Given the description of an element on the screen output the (x, y) to click on. 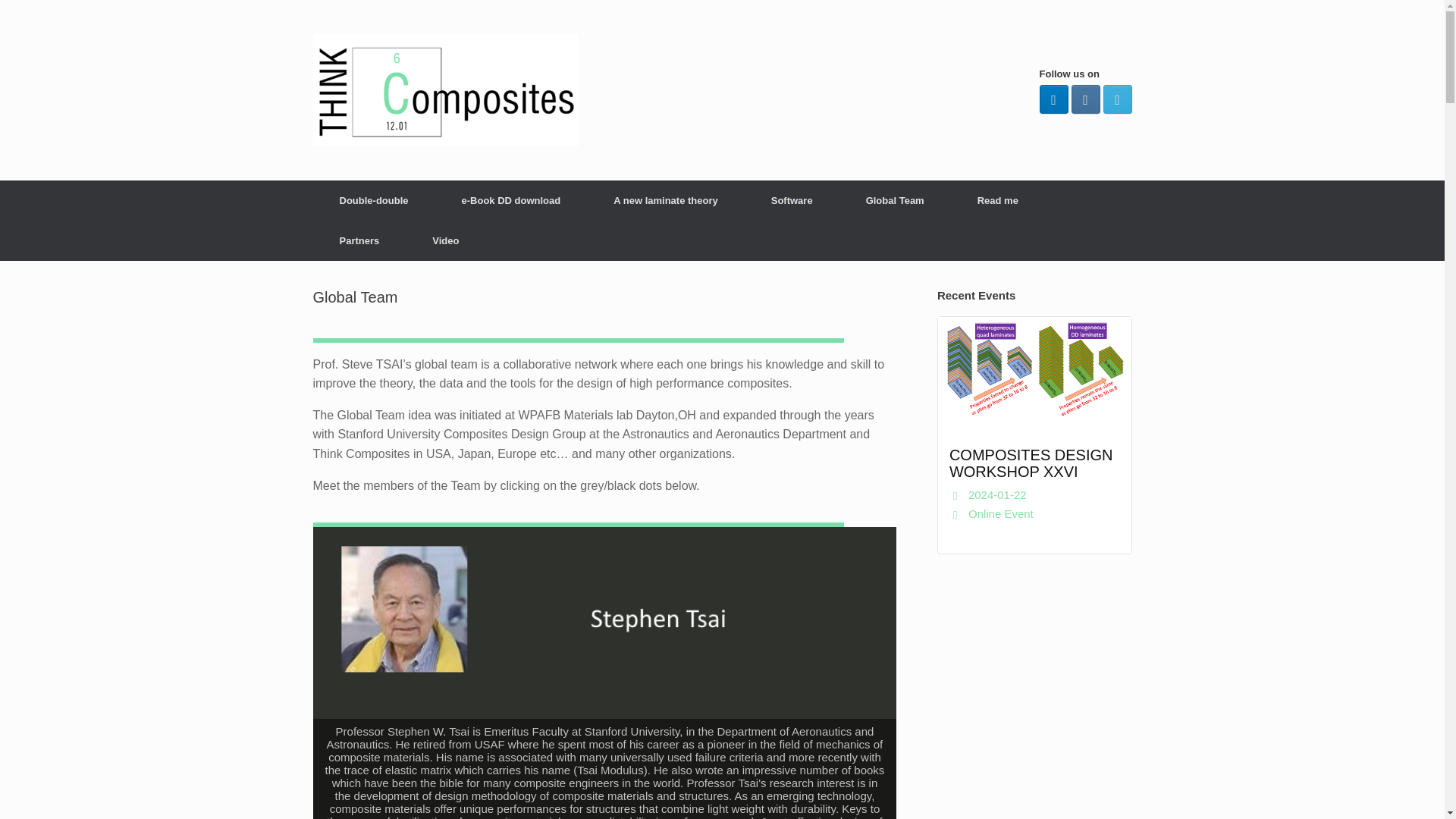
Video (445, 240)
Double-double (373, 200)
Think composites (445, 90)
Think composites Email (1116, 99)
e-Book DD download (511, 200)
Read me (997, 200)
Partners (359, 240)
Global Team (895, 200)
A new laminate theory (665, 200)
Software (792, 200)
Think composites LinkedIn (1053, 99)
Think composites Instagram (1084, 99)
